Given the description of an element on the screen output the (x, y) to click on. 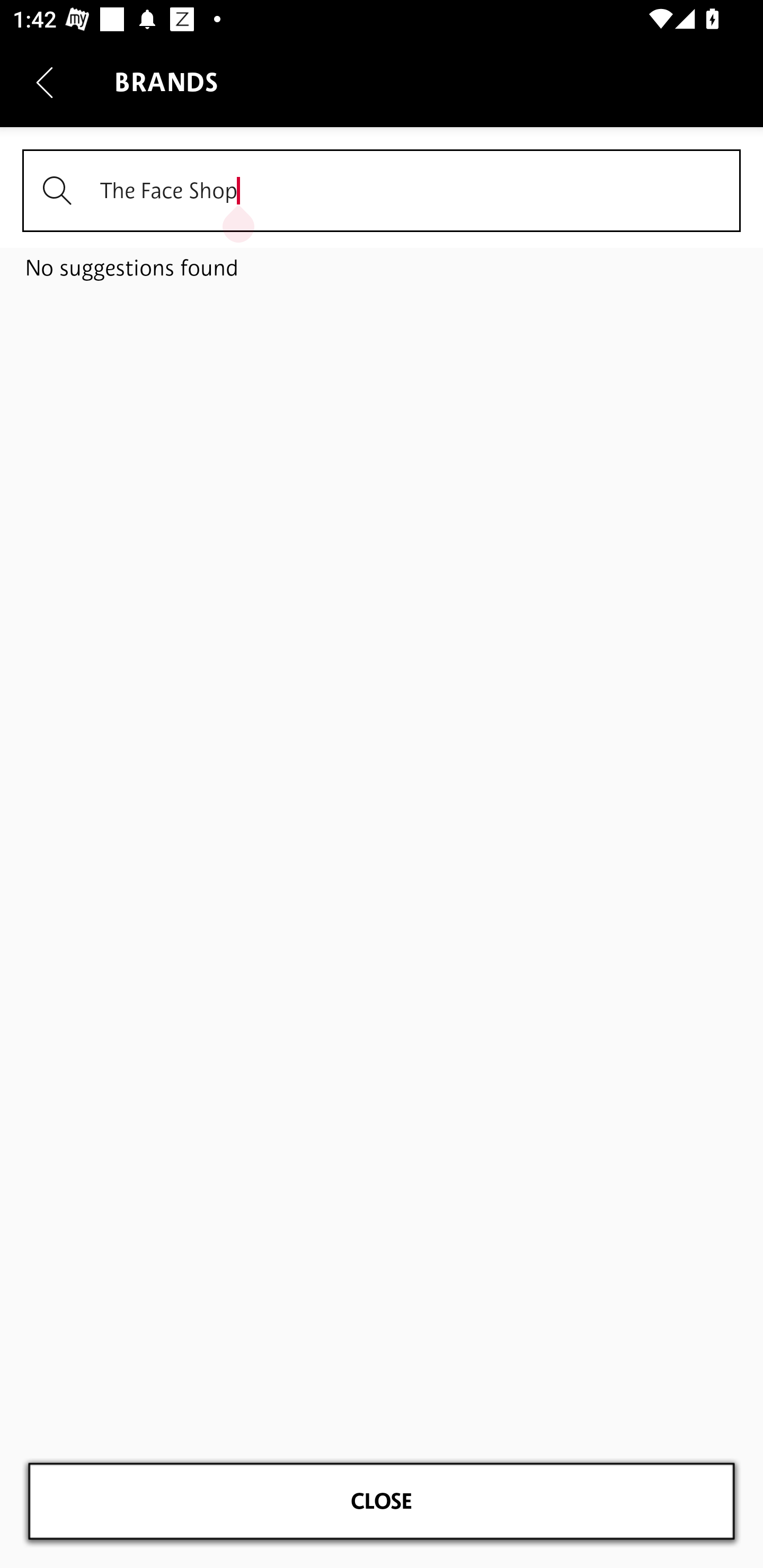
Navigate up (44, 82)
The Face Shop (381, 190)
BRANDS (381, 246)
CLOSE (381, 1501)
